Given the description of an element on the screen output the (x, y) to click on. 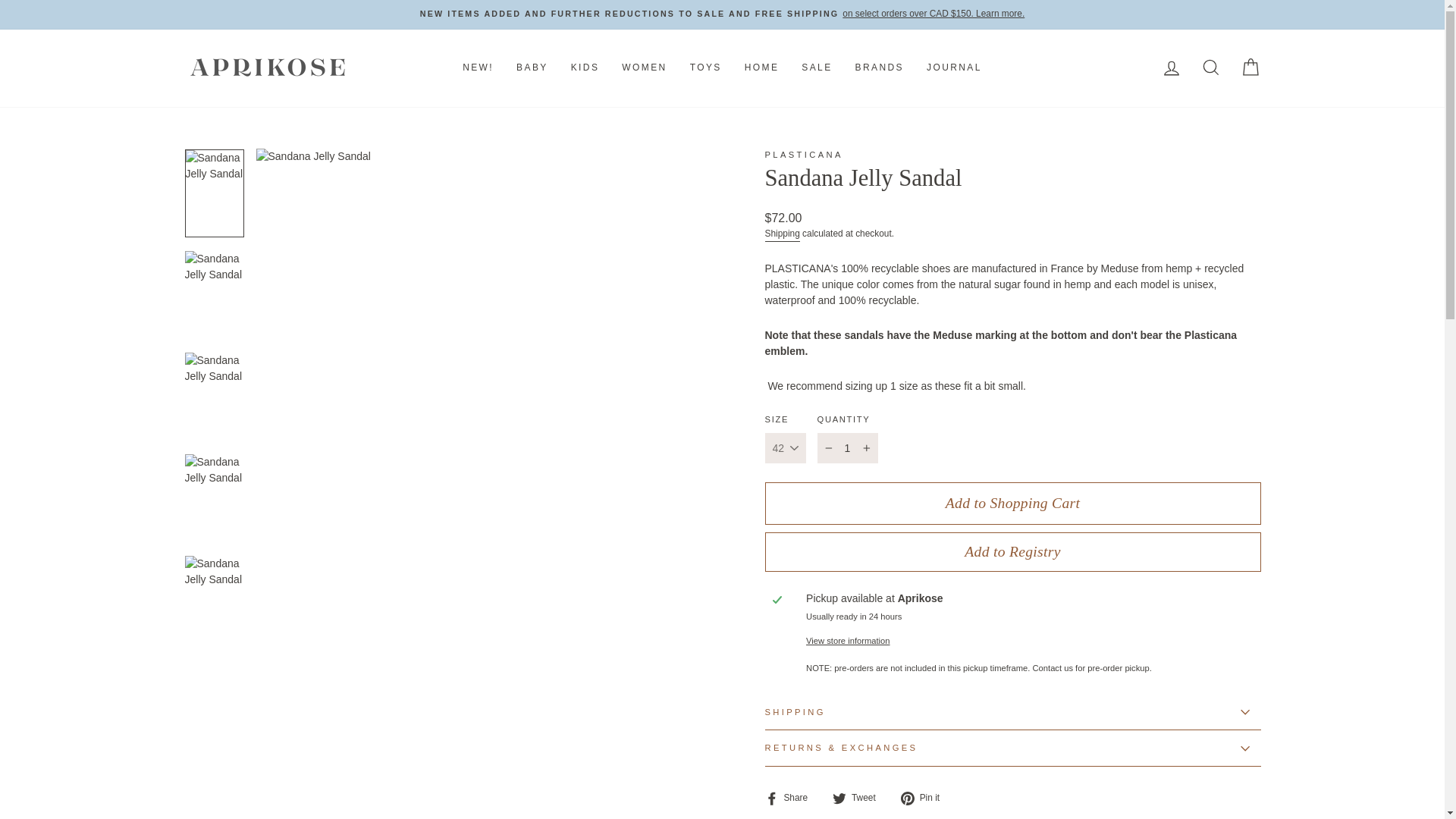
Add to Registry (1012, 551)
Tweet on Twitter (859, 797)
Share on Facebook (791, 797)
1 (846, 448)
Pin on Pinterest (925, 797)
